Given the description of an element on the screen output the (x, y) to click on. 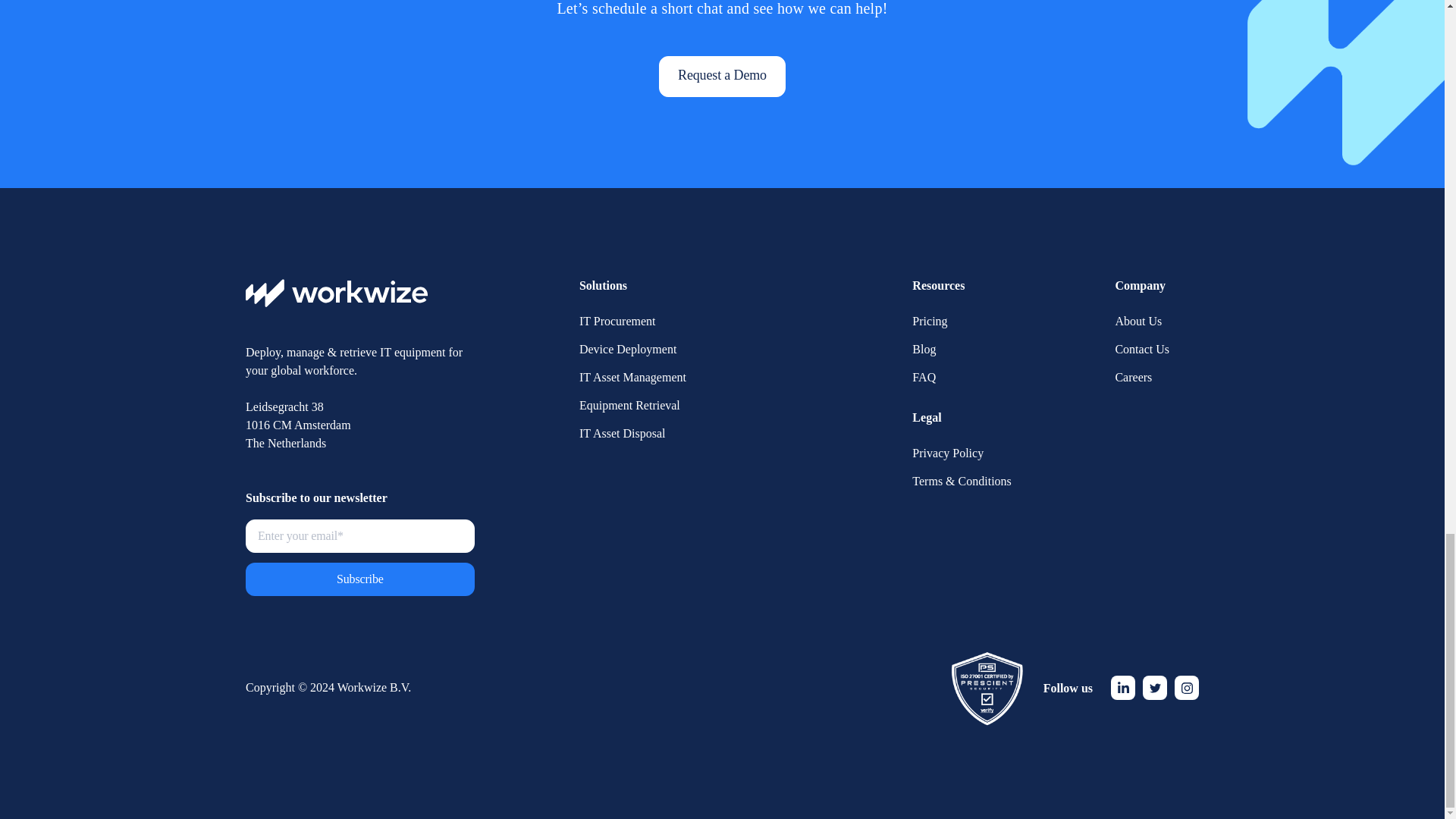
FAQ (924, 377)
Subscribe (360, 579)
IT Procurement (617, 321)
Subscribe (360, 579)
IT Asset Disposal (622, 434)
Pricing (929, 321)
Request a Demo (722, 76)
Blog (924, 349)
IT Asset Management (632, 377)
Device Deployment (628, 349)
